Given the description of an element on the screen output the (x, y) to click on. 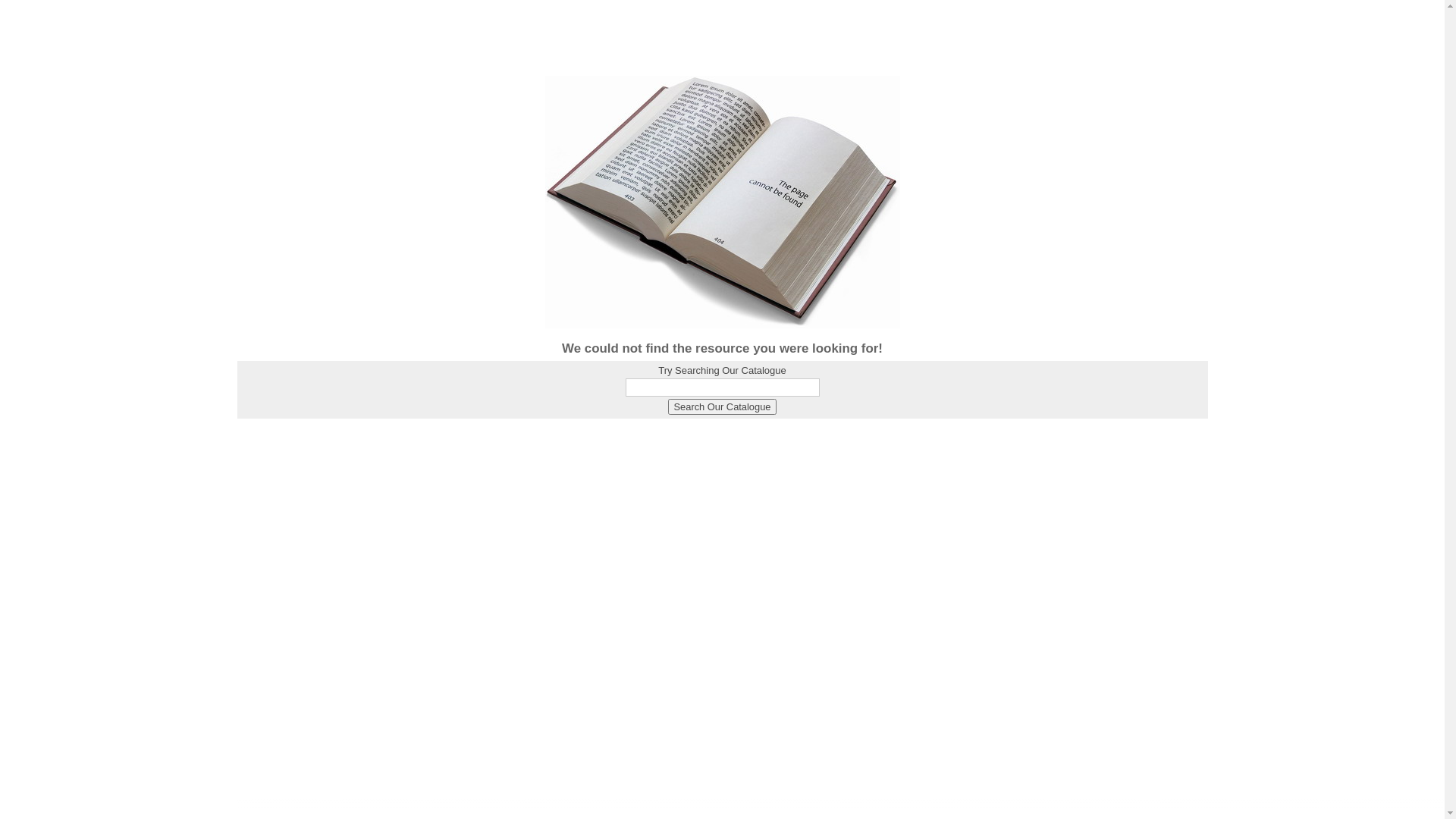
Search Our Catalogue Element type: text (722, 406)
